Given the description of an element on the screen output the (x, y) to click on. 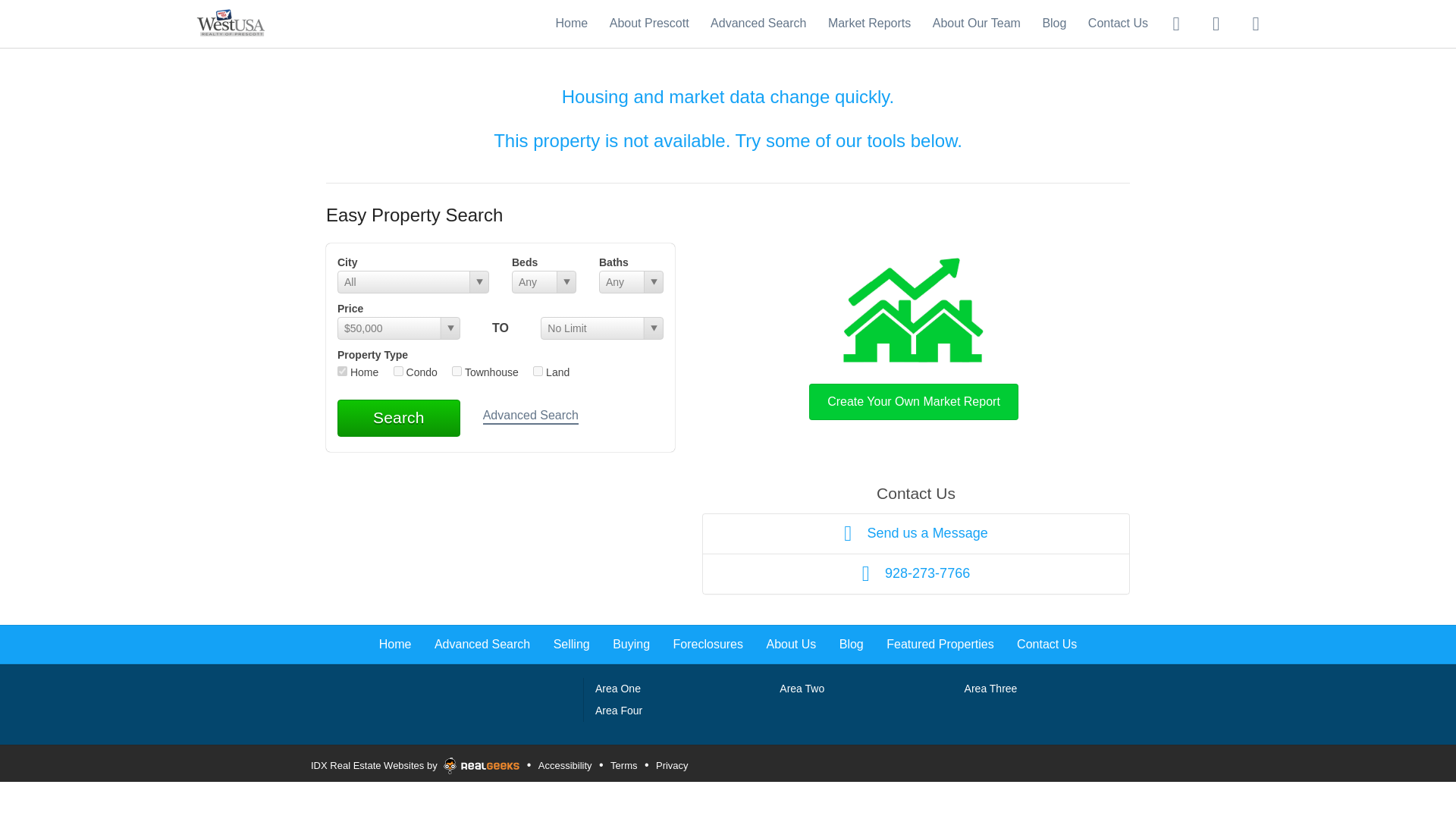
Featured Properties (939, 644)
Contact Us (1046, 644)
Accessibility (564, 765)
Area Four (618, 710)
Home (395, 644)
lnd (537, 370)
Advanced Search (530, 416)
res (342, 370)
Privacy (672, 765)
Advanced Search (758, 22)
